Given the description of an element on the screen output the (x, y) to click on. 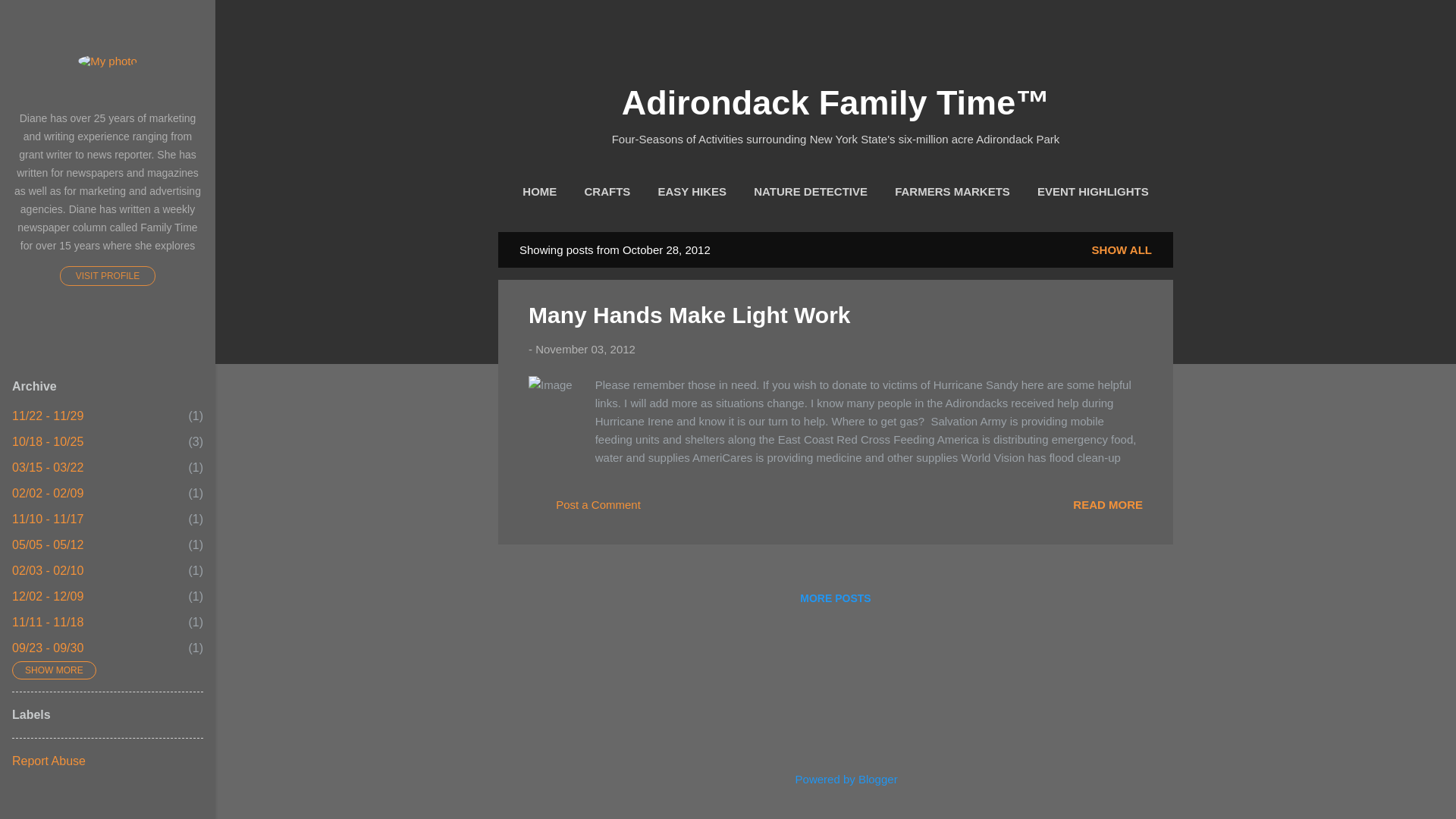
HOME (539, 192)
EVENT HIGHLIGHTS (1092, 192)
FARMERS MARKETS (952, 192)
SHOW ALL (1121, 249)
Many Hands Make Light Work (1107, 503)
November 03, 2012 (584, 349)
NATURE DETECTIVE (810, 192)
VISIT PROFILE (107, 275)
Search (29, 18)
permanent link (584, 349)
